Given the description of an element on the screen output the (x, y) to click on. 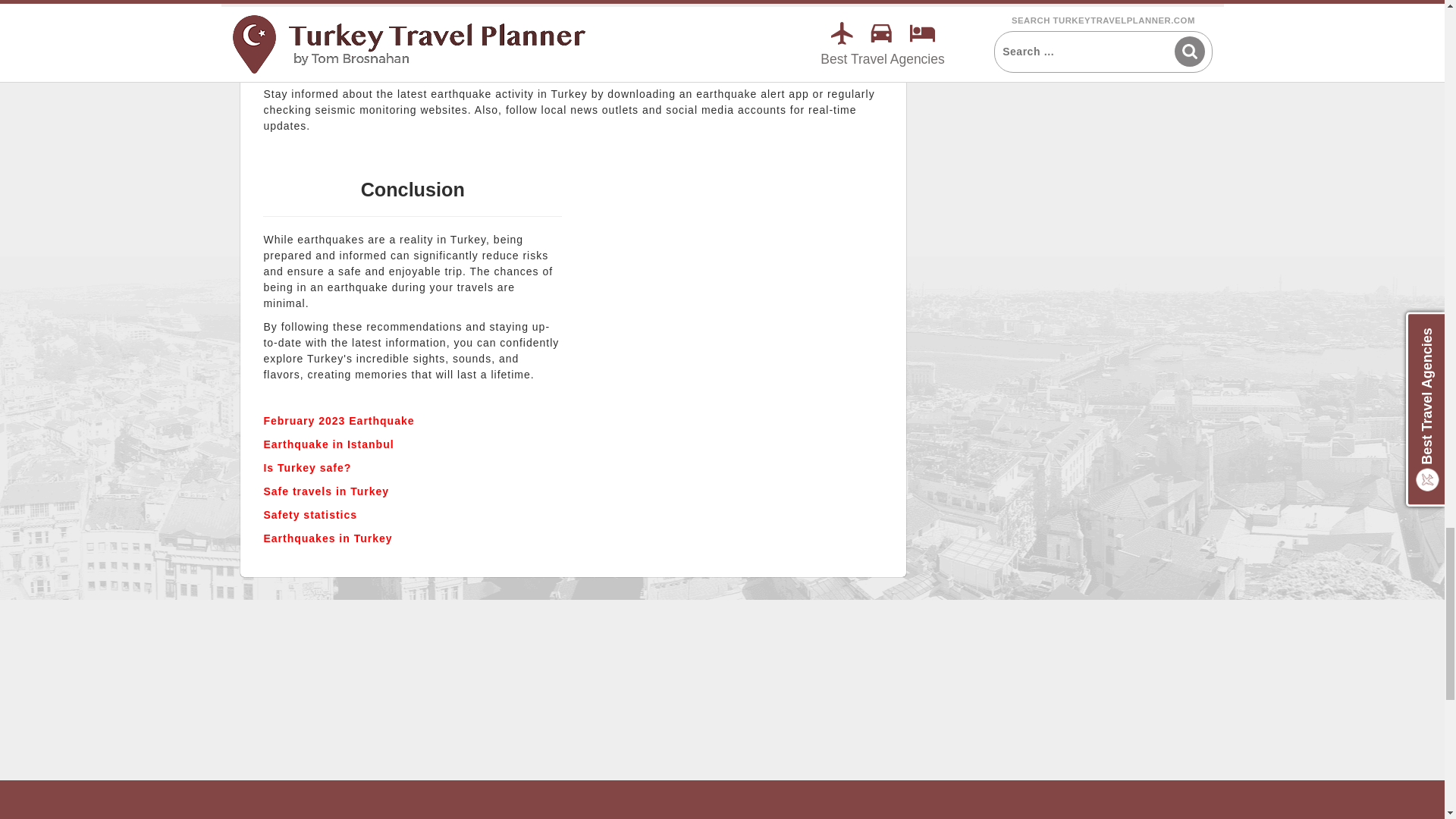
Turkey (734, 286)
